Given the description of an element on the screen output the (x, y) to click on. 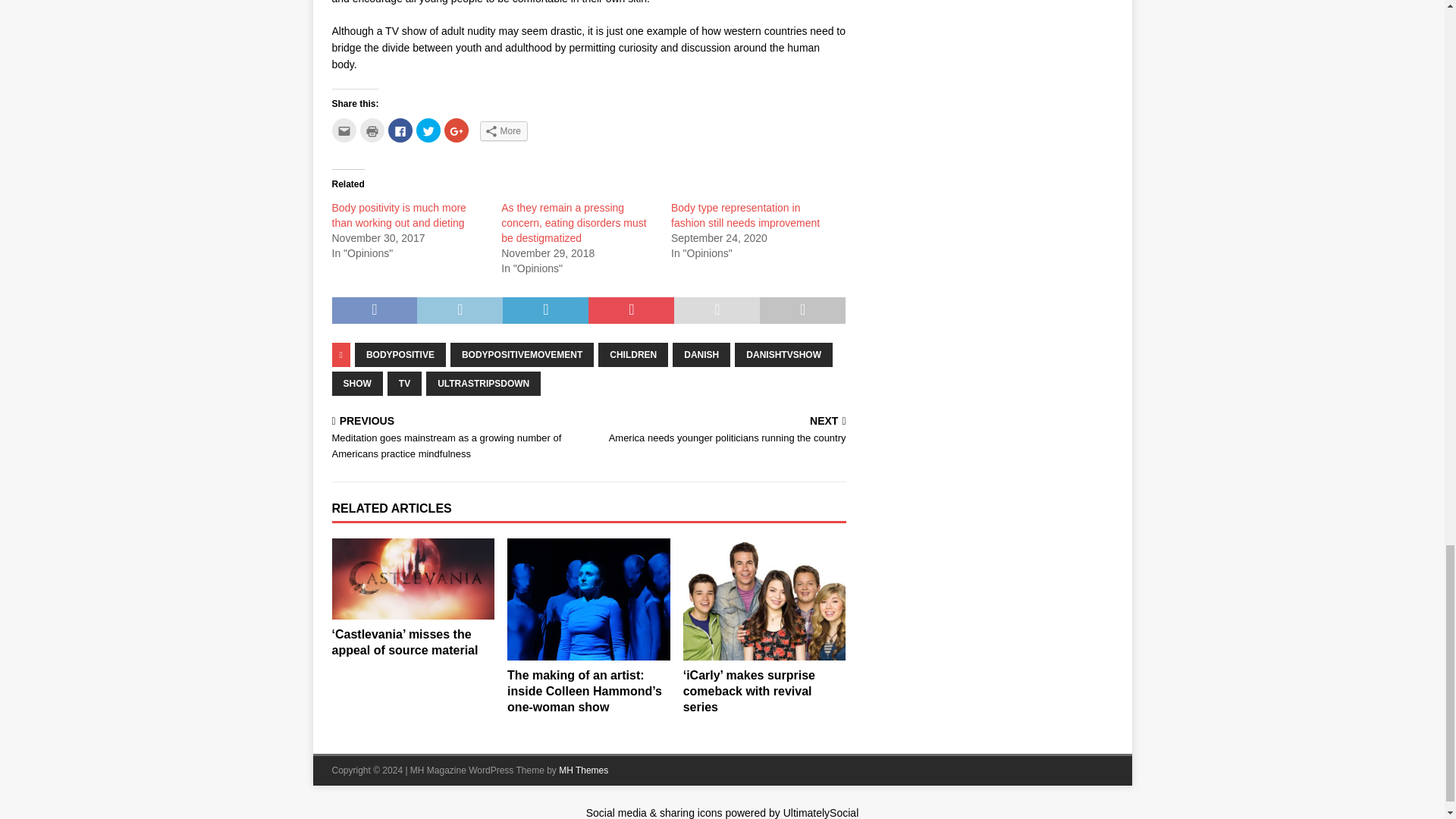
Click to share on Facebook (400, 129)
Click to print (371, 129)
Click to email this to a friend (343, 129)
Click to share on Twitter (426, 129)
